Given the description of an element on the screen output the (x, y) to click on. 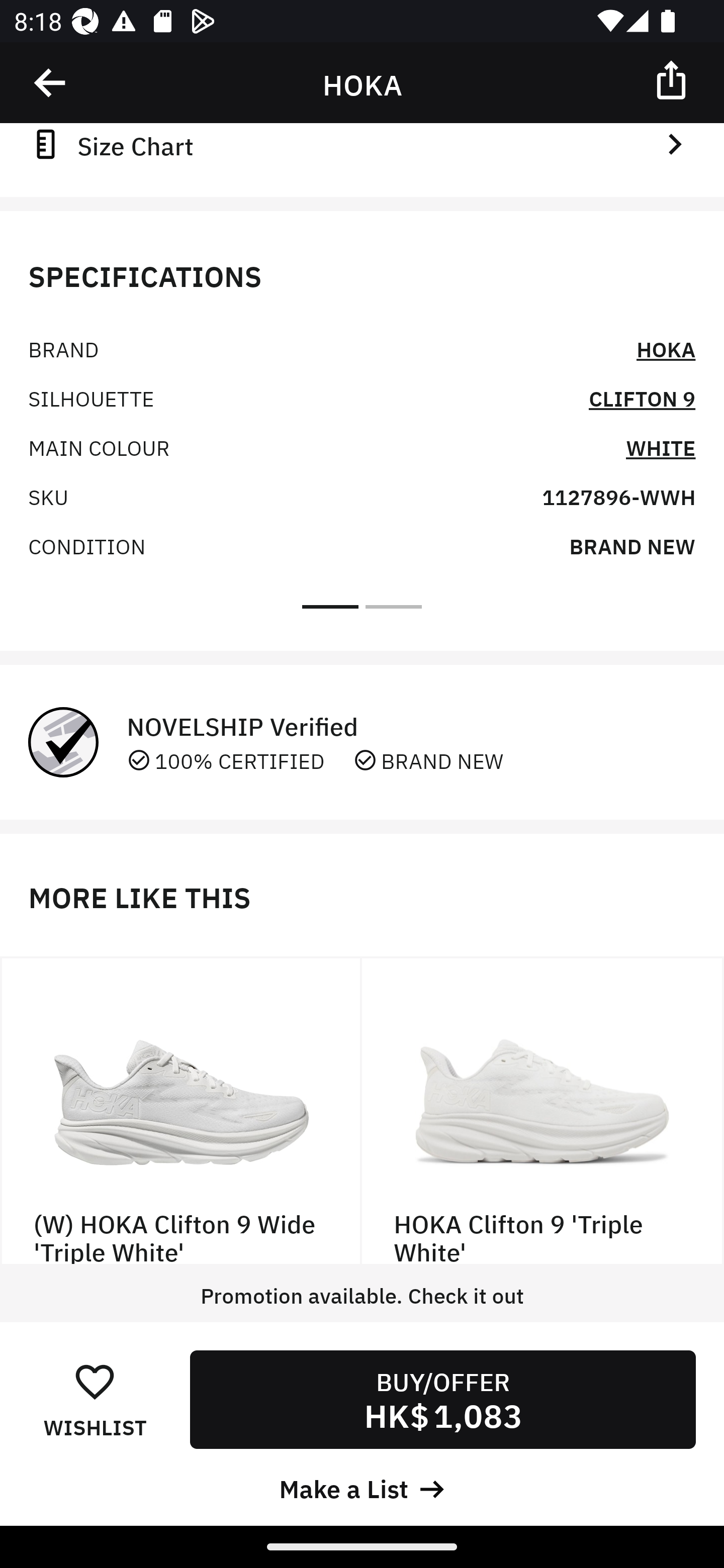
 (50, 83)
 (672, 79)
Size Chart  (361, 143)
HOKA (665, 347)
CLIFTON 9 (641, 397)
WHITE (660, 446)
1127896-WWH (618, 496)
BRAND NEW (632, 545)
(W) HOKA Clifton 9 Wide 'Triple White' (181, 1110)
HOKA Clifton 9 'Triple White' (543, 1110)
BUY/OFFER HK$ 1,083 (442, 1399)
󰋕 (94, 1380)
Make a List (361, 1486)
